Given the description of an element on the screen output the (x, y) to click on. 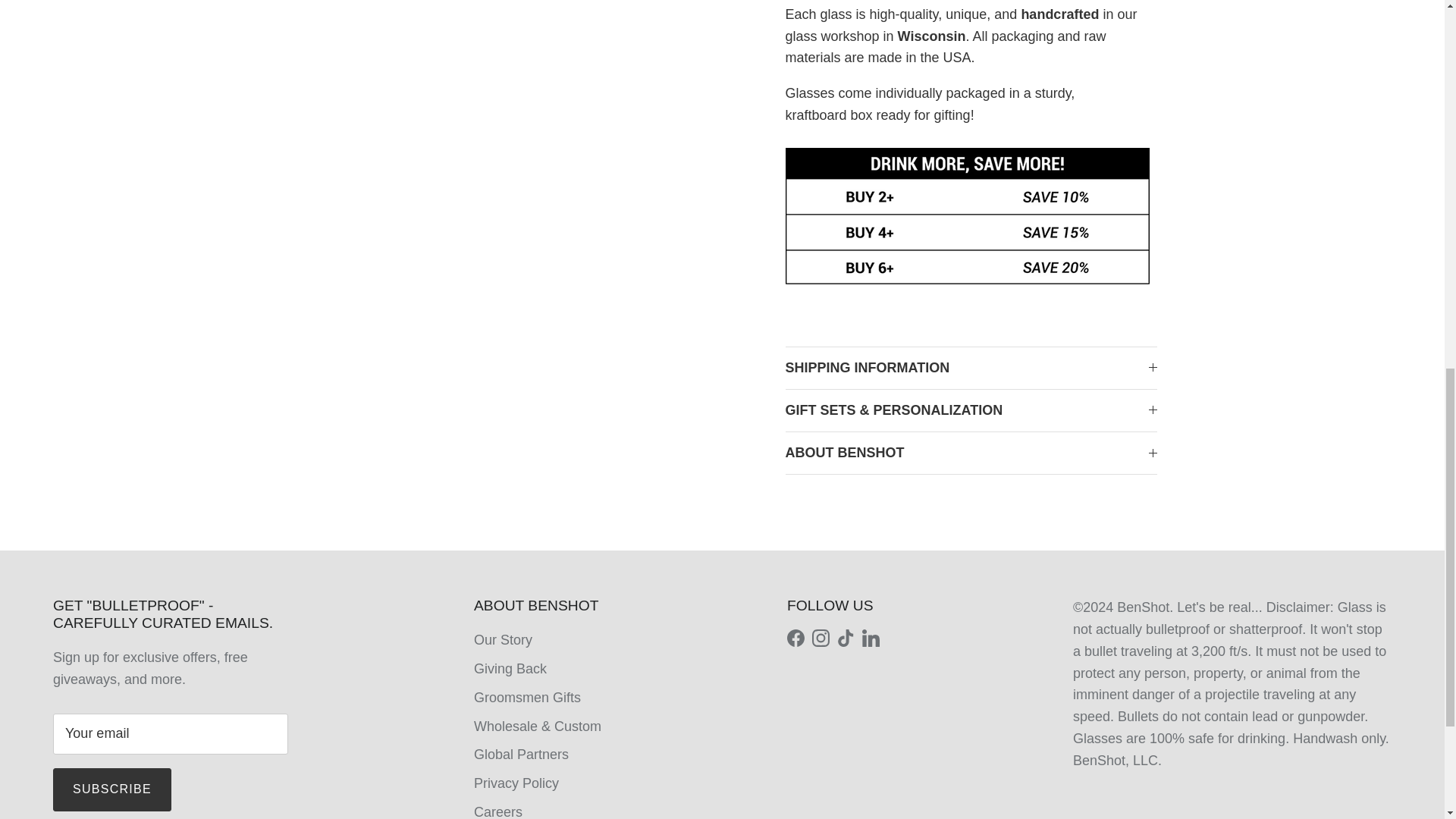
BenShot on TikTok (845, 638)
BenShot on LinkedIn (870, 638)
BenShot on Instagram (820, 638)
BenShot on Facebook (796, 638)
